Given the description of an element on the screen output the (x, y) to click on. 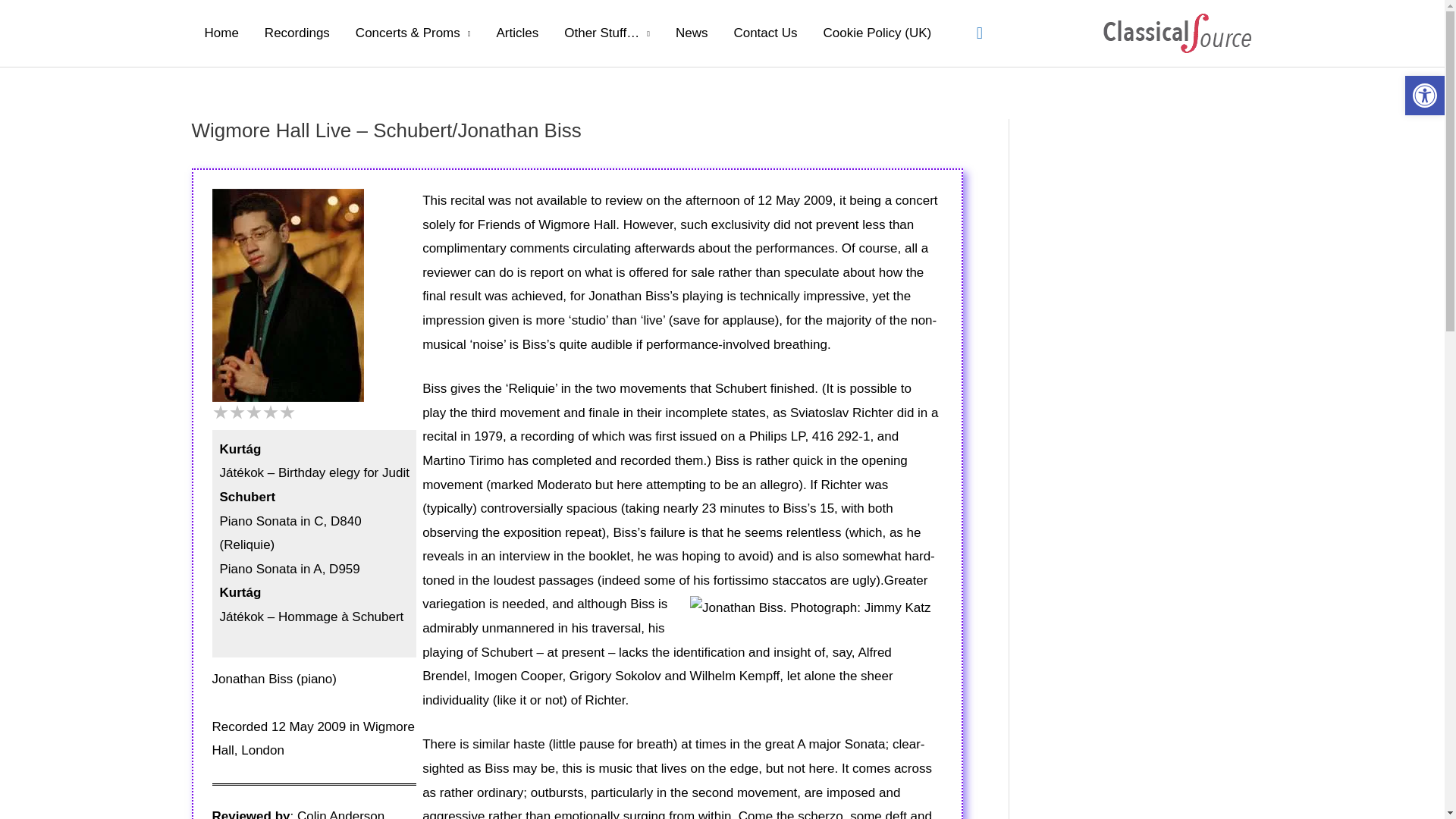
Accessibility Tools (1424, 95)
Home (220, 33)
Articles (517, 33)
Recordings (296, 33)
